Given the description of an element on the screen output the (x, y) to click on. 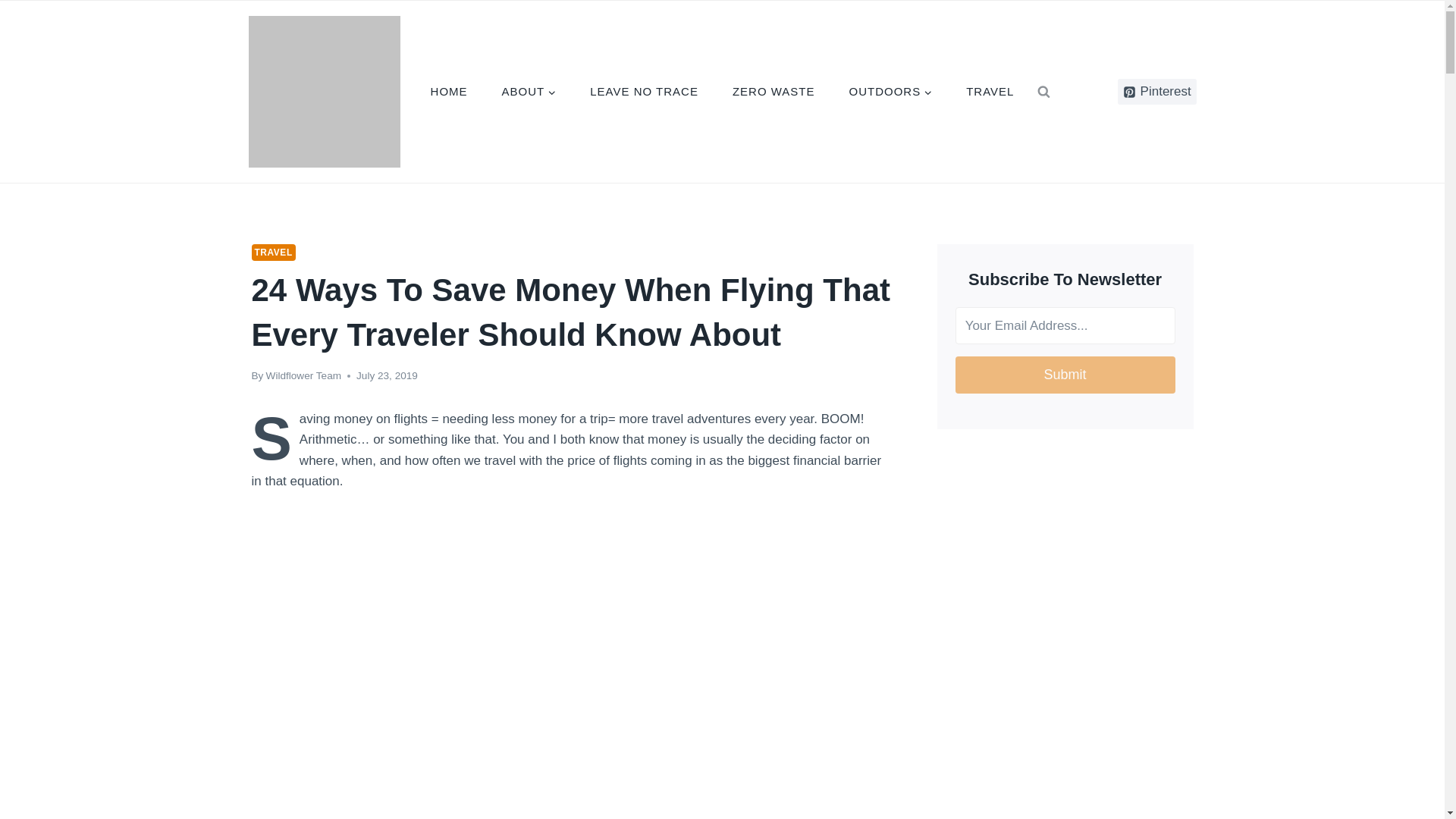
ZERO WASTE (772, 91)
TRAVEL (989, 91)
Wildflower Team (303, 375)
ABOUT (528, 91)
Pinterest (1157, 91)
LEAVE NO TRACE (644, 91)
TRAVEL (273, 252)
OUTDOORS (890, 91)
HOME (448, 91)
